Given the description of an element on the screen output the (x, y) to click on. 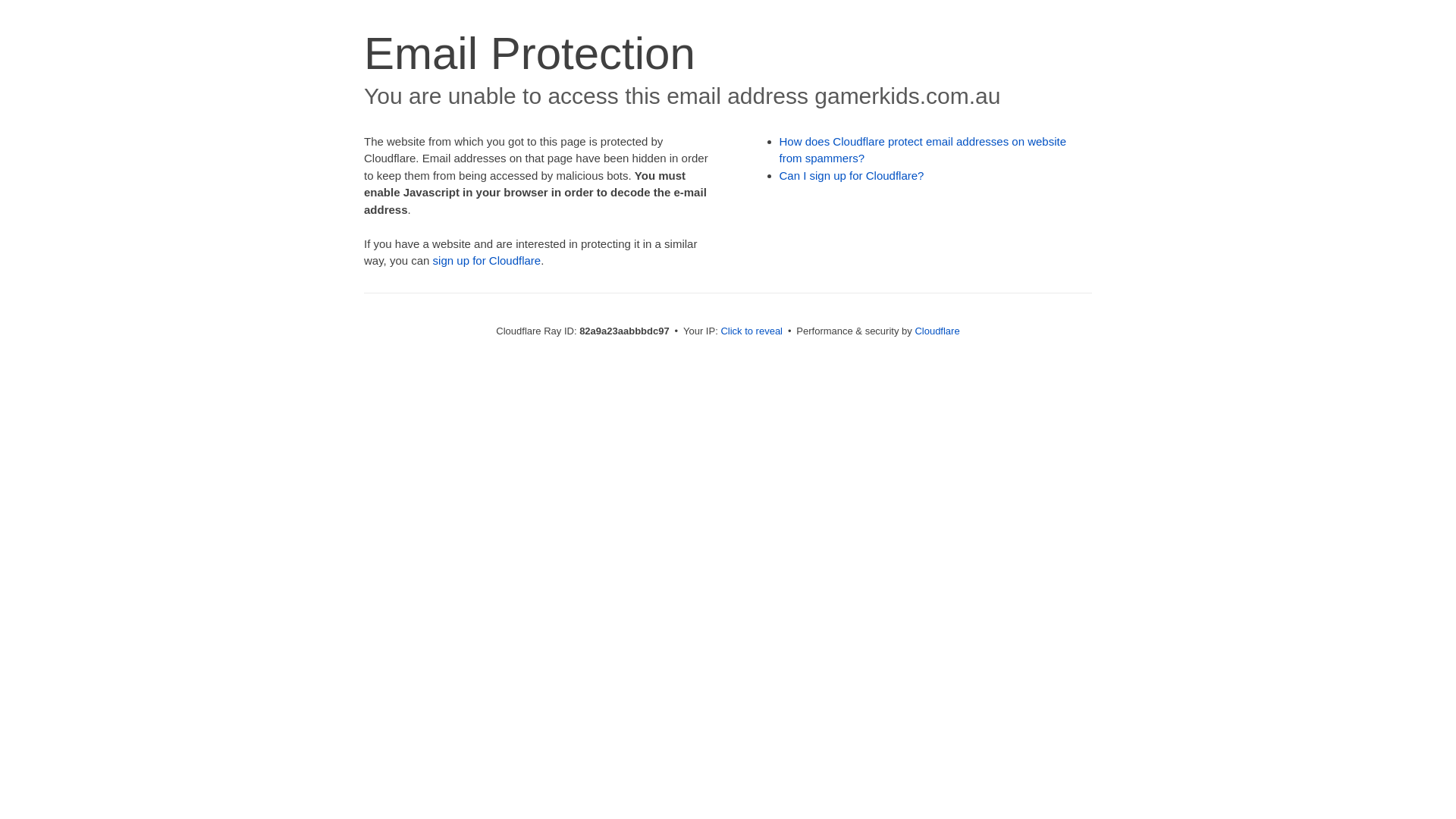
Click to reveal Element type: text (751, 330)
Can I sign up for Cloudflare? Element type: text (851, 175)
Cloudflare Element type: text (936, 330)
sign up for Cloudflare Element type: text (487, 260)
